Given the description of an element on the screen output the (x, y) to click on. 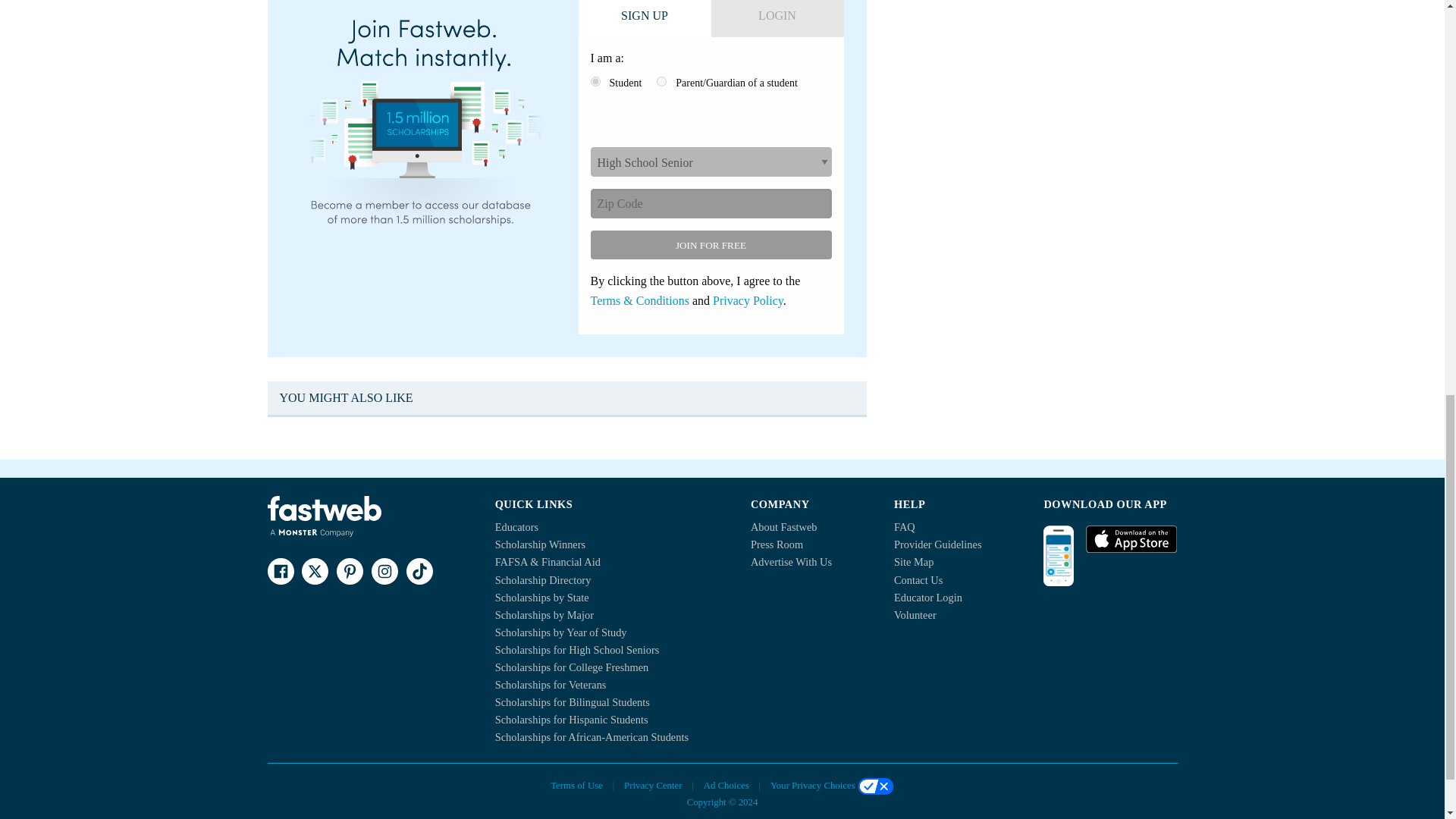
1 (594, 81)
Fastweb on TikTok (419, 570)
Join for free (710, 244)
Fastweb on IOS (1131, 538)
Fastweb on Facebook (280, 570)
Fastweb on Pinterest (349, 570)
Fastweb on Instagram (384, 570)
2 (661, 81)
